Given the description of an element on the screen output the (x, y) to click on. 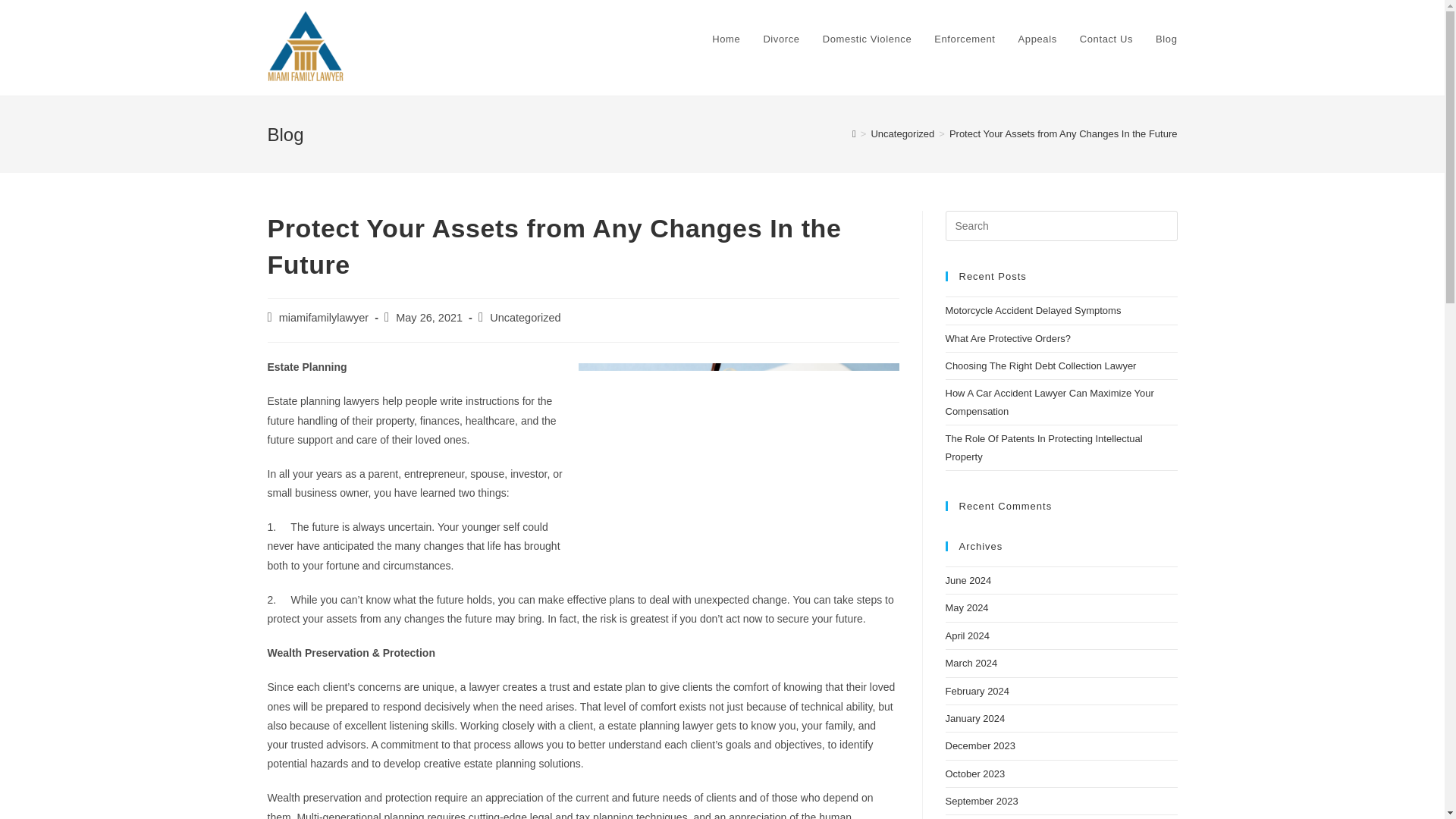
Choosing The Right Debt Collection Lawyer (1039, 365)
Home (725, 39)
June 2024 (967, 580)
How A Car Accident Lawyer Can Maximize Your Compensation (1048, 401)
Motorcycle Accident Delayed Symptoms (1032, 310)
miamifamilylawyer (323, 317)
May 2024 (966, 607)
April 2024 (967, 635)
The Role Of Patents In Protecting Intellectual Property (1042, 447)
October 2023 (974, 773)
